Given the description of an element on the screen output the (x, y) to click on. 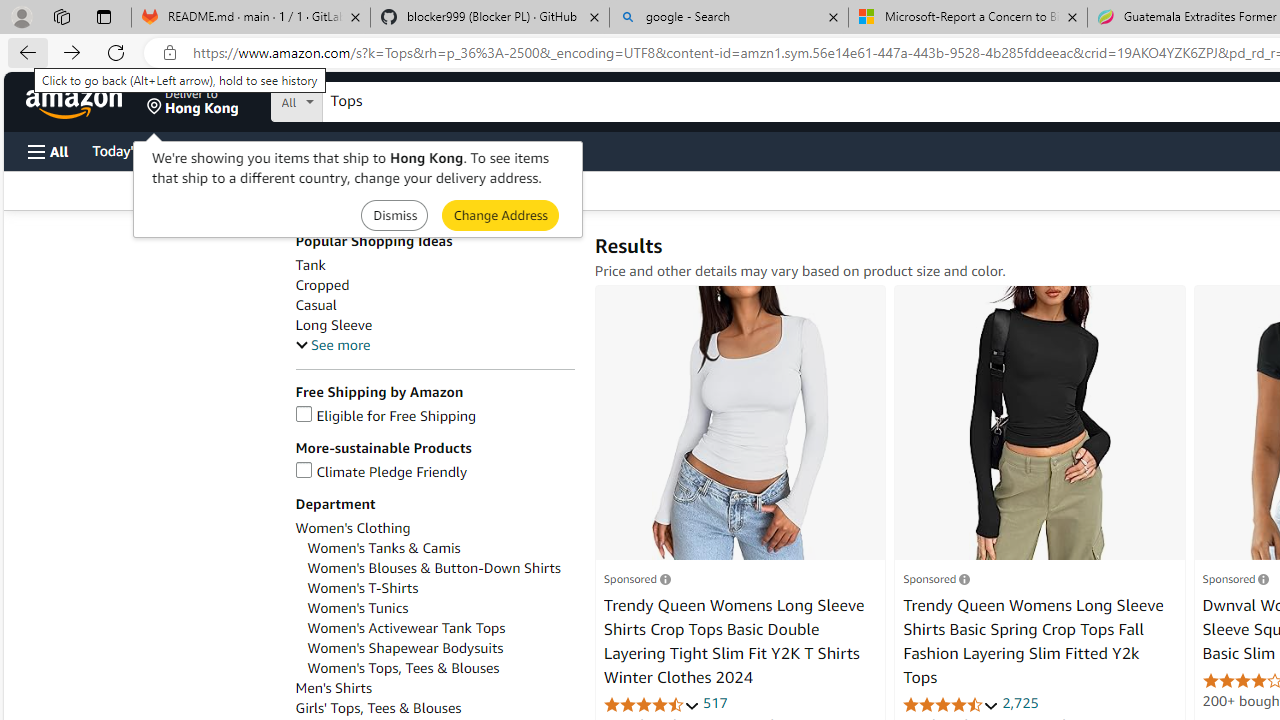
Girls' Tops, Tees & Blouses (434, 708)
Customer Service (256, 150)
View Sponsored information or leave ad feedback (1235, 578)
Registry (360, 150)
Amazon (76, 101)
517 (715, 702)
Long Sleeve (434, 325)
Today's Deals (134, 150)
Girls' Tops, Tees & Blouses (378, 708)
